Given the description of an element on the screen output the (x, y) to click on. 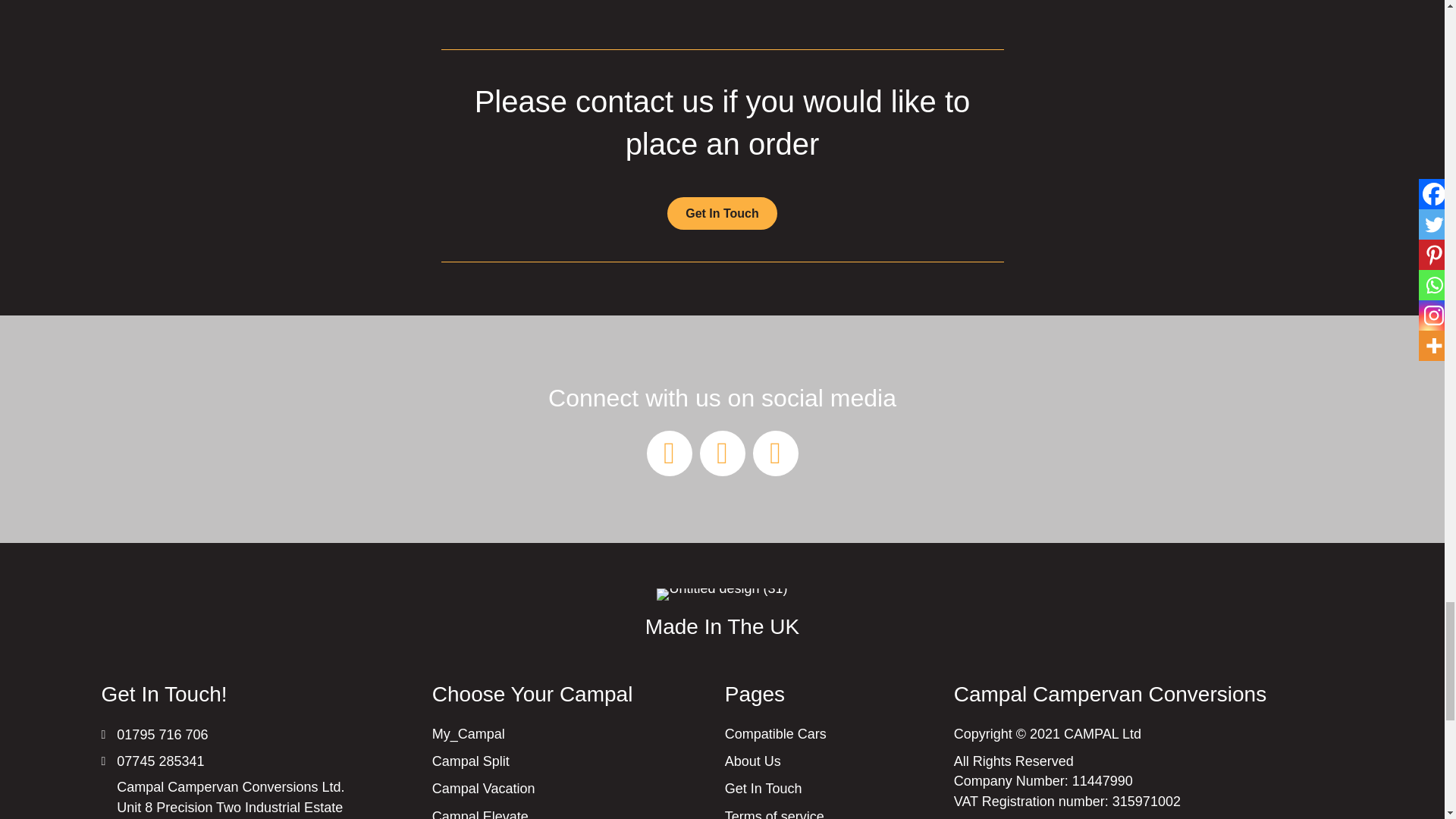
07745 285341 (159, 761)
Get In Touch (721, 212)
01795 716 706 (162, 734)
